Given the description of an element on the screen output the (x, y) to click on. 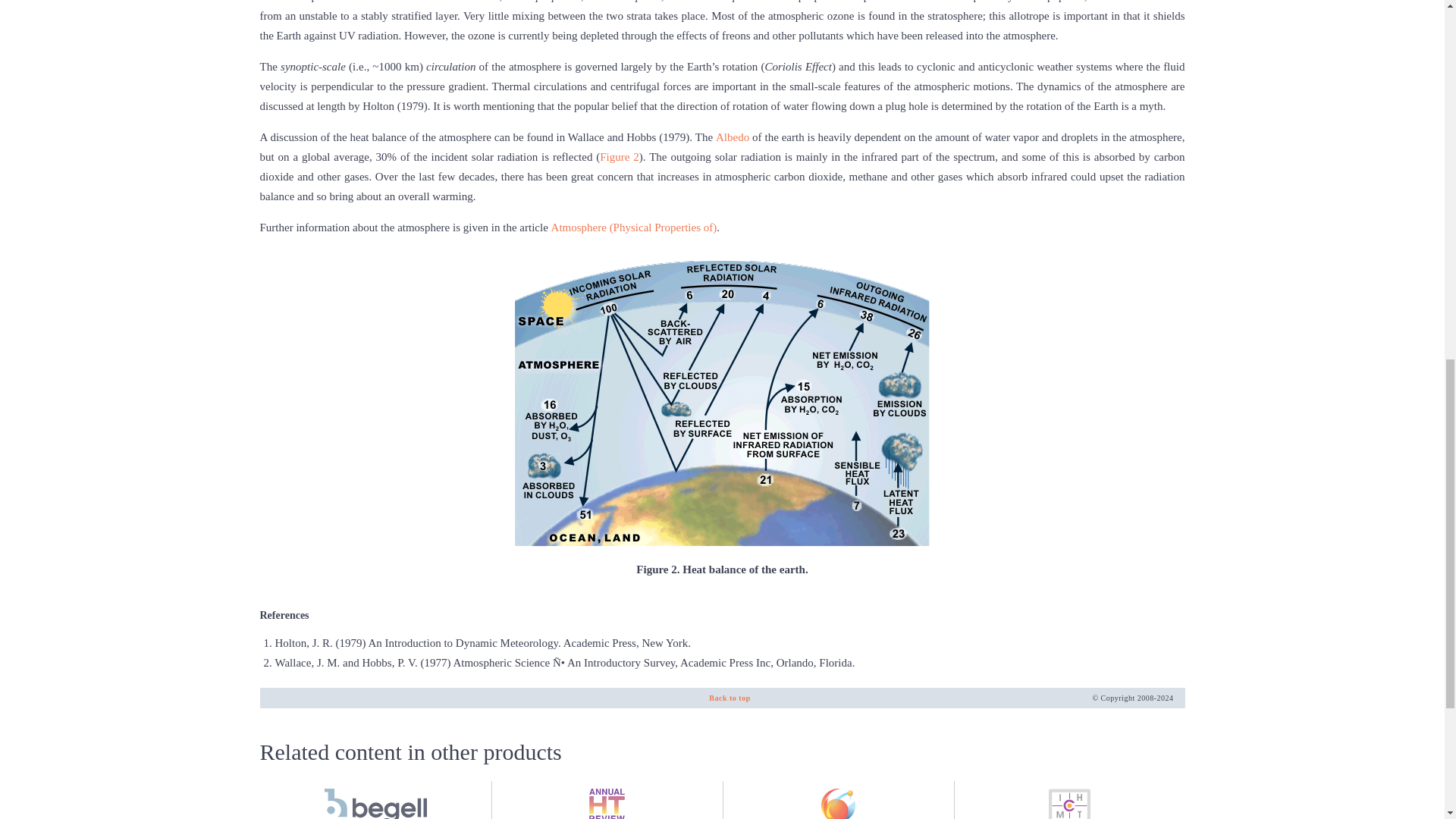
ALBEDO (734, 137)
Annual Review of Heat Transfer (607, 800)
Back to top (729, 697)
Figure 2 (374, 800)
Back to top (619, 156)
AIHTC (729, 697)
Albedo (837, 800)
